Given the description of an element on the screen output the (x, y) to click on. 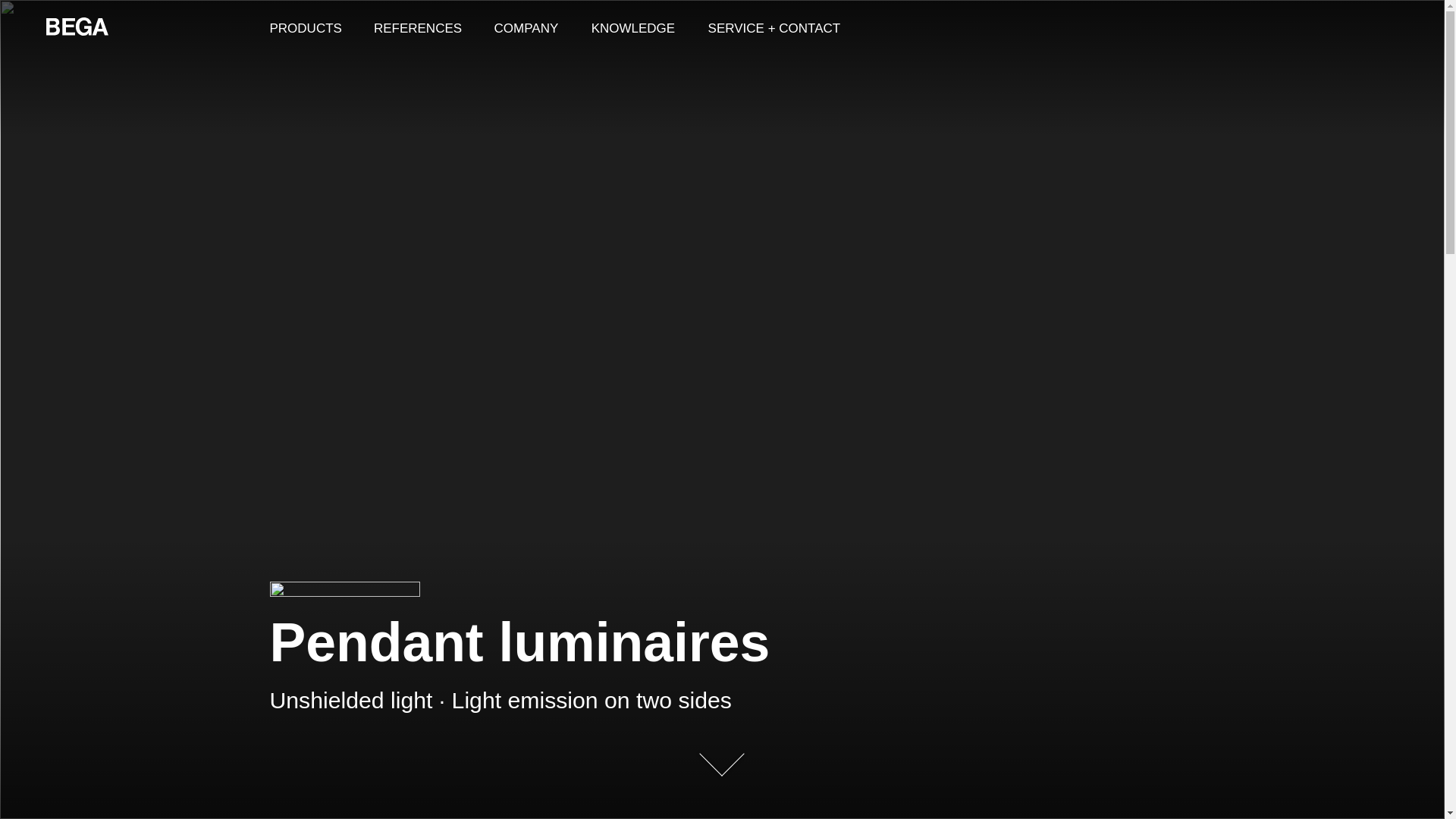
COMPANY (526, 27)
Knowledge (633, 27)
Products (304, 27)
PRODUCTS (304, 27)
References (417, 27)
Company (526, 27)
KNOWLEDGE (633, 27)
REFERENCES (417, 27)
